Given the description of an element on the screen output the (x, y) to click on. 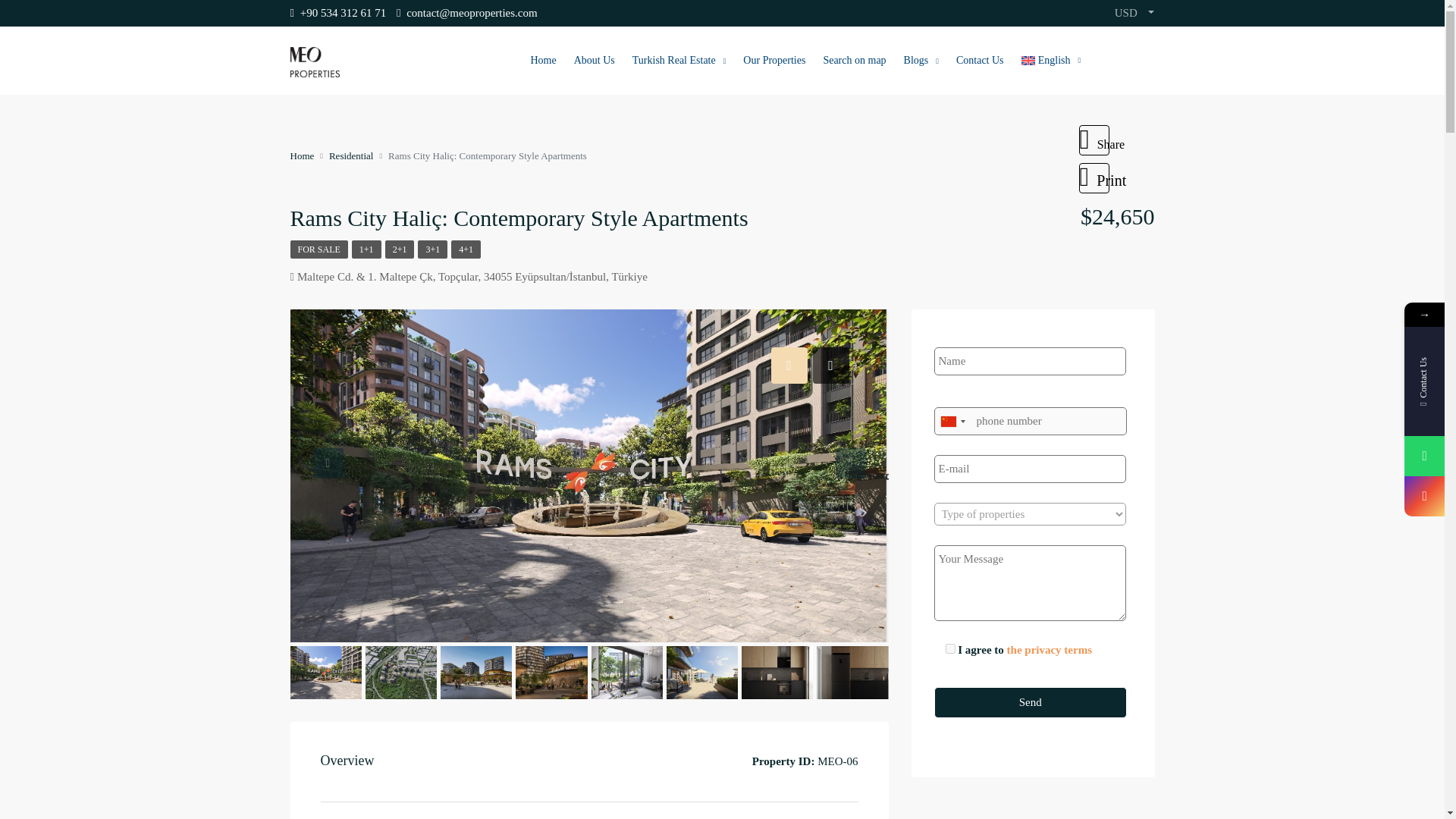
Turkish Real Estate (679, 60)
FOR SALE (318, 249)
English (1050, 60)
Residential (351, 154)
USD (1133, 13)
English (1050, 60)
Send (1030, 702)
Search on map (853, 60)
Our Properties (773, 60)
1 (949, 648)
Home (301, 154)
Contact Us (979, 60)
